Given the description of an element on the screen output the (x, y) to click on. 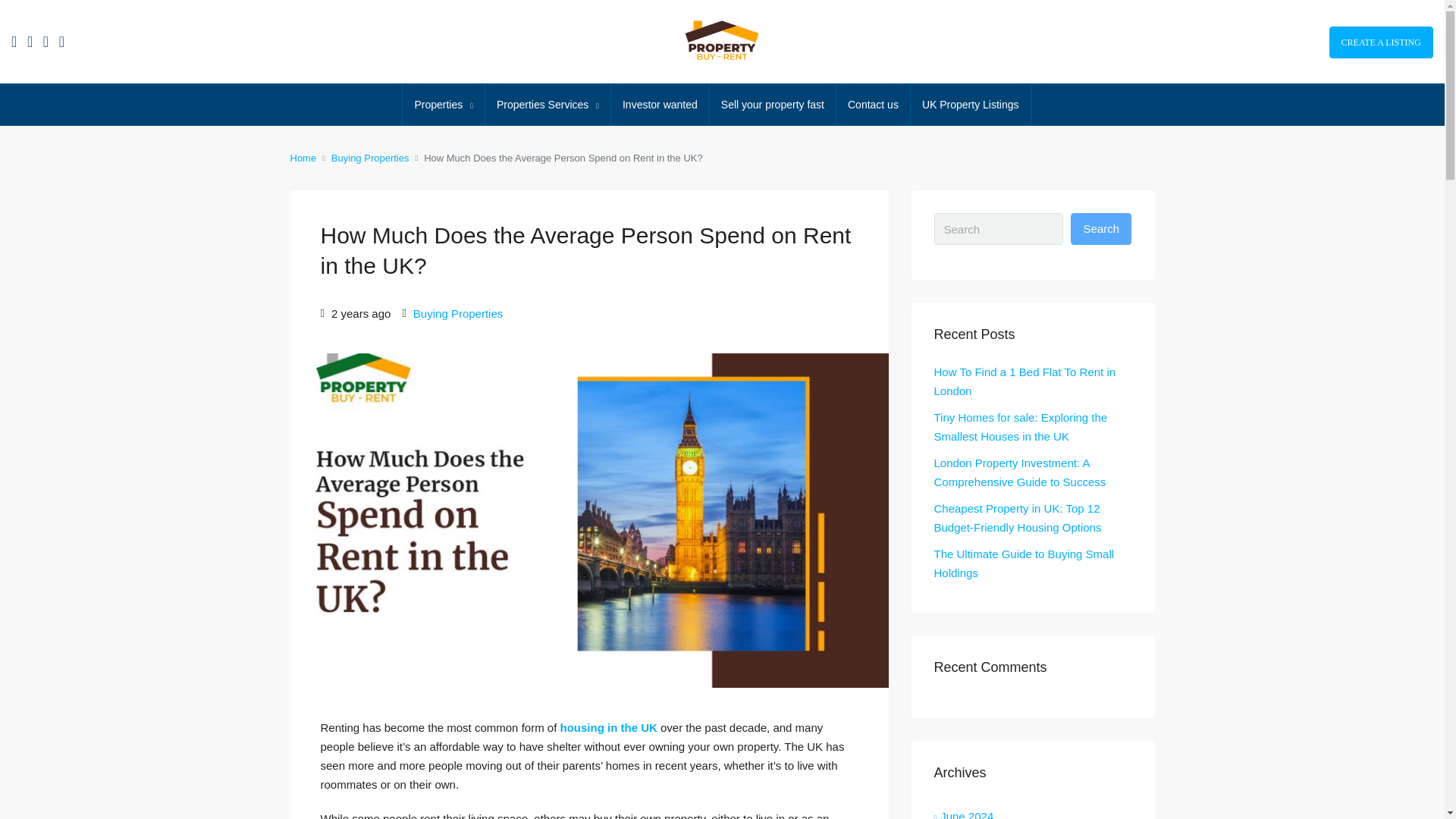
CREATE A LISTING (1380, 42)
Sell your property fast (772, 104)
Investor wanted (660, 104)
Contact us (872, 104)
Properties Services (547, 105)
Properties (443, 105)
